Given the description of an element on the screen output the (x, y) to click on. 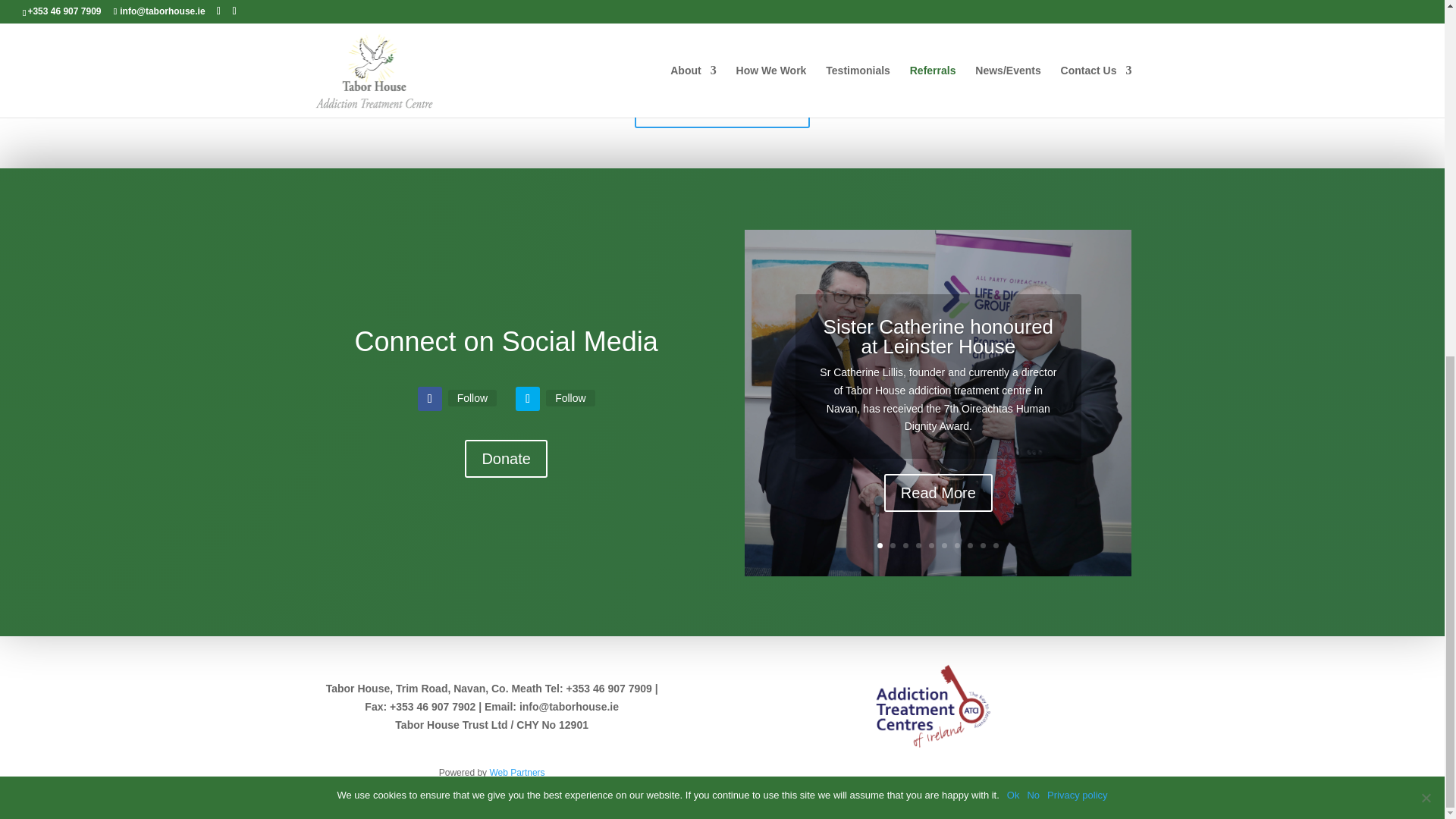
Facebook (472, 397)
Follow on Facebook (429, 398)
our online referral form. (634, 58)
Follow on Twitter (527, 398)
Follow (472, 397)
Online Referral Form (721, 108)
No (1425, 171)
Twitter (570, 397)
Follow (570, 397)
